Given the description of an element on the screen output the (x, y) to click on. 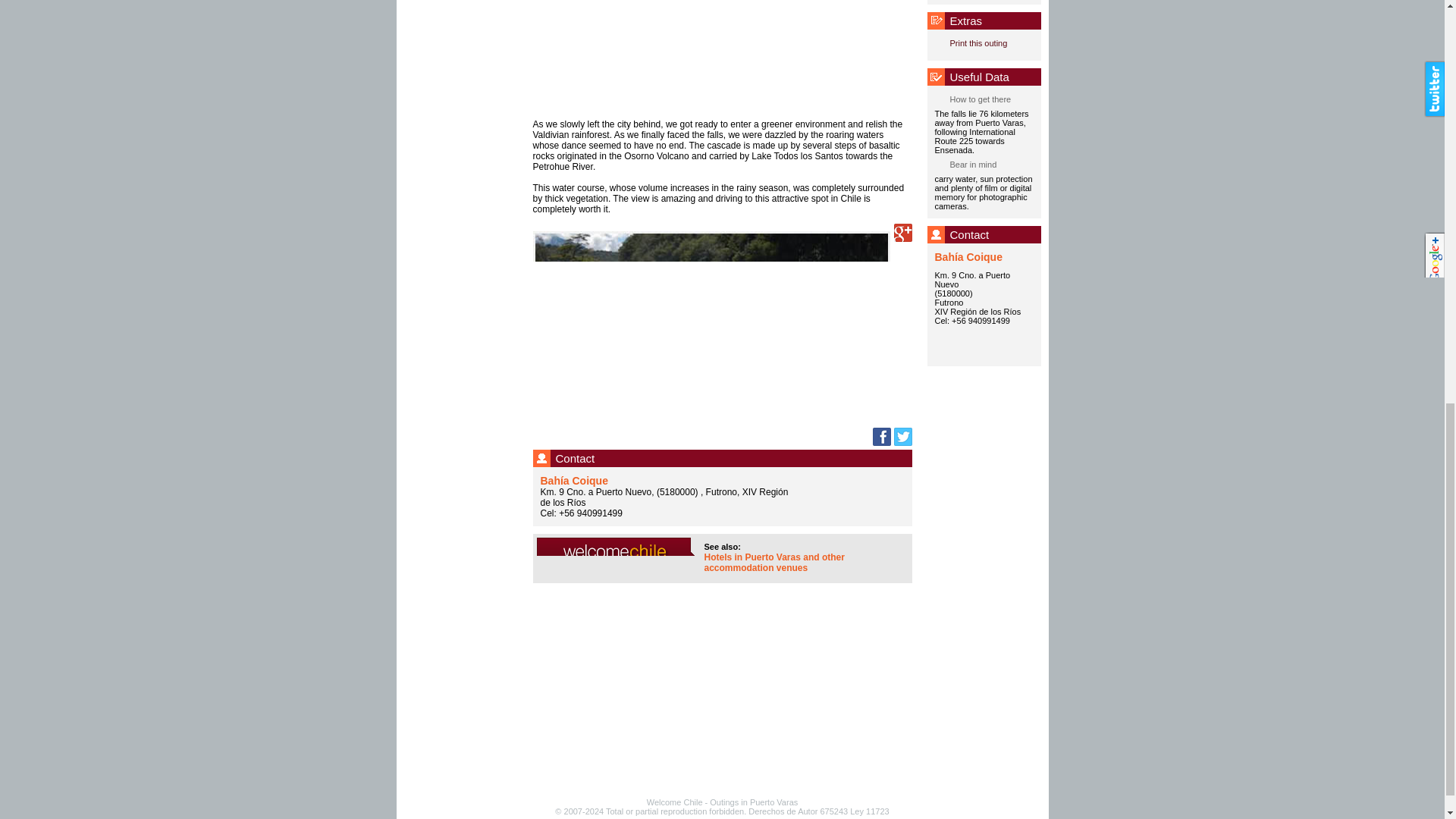
Welcome Chile (674, 801)
Puerto Varas (773, 801)
Hotels in Puerto Varas and other accommodation venues (773, 562)
